Given the description of an element on the screen output the (x, y) to click on. 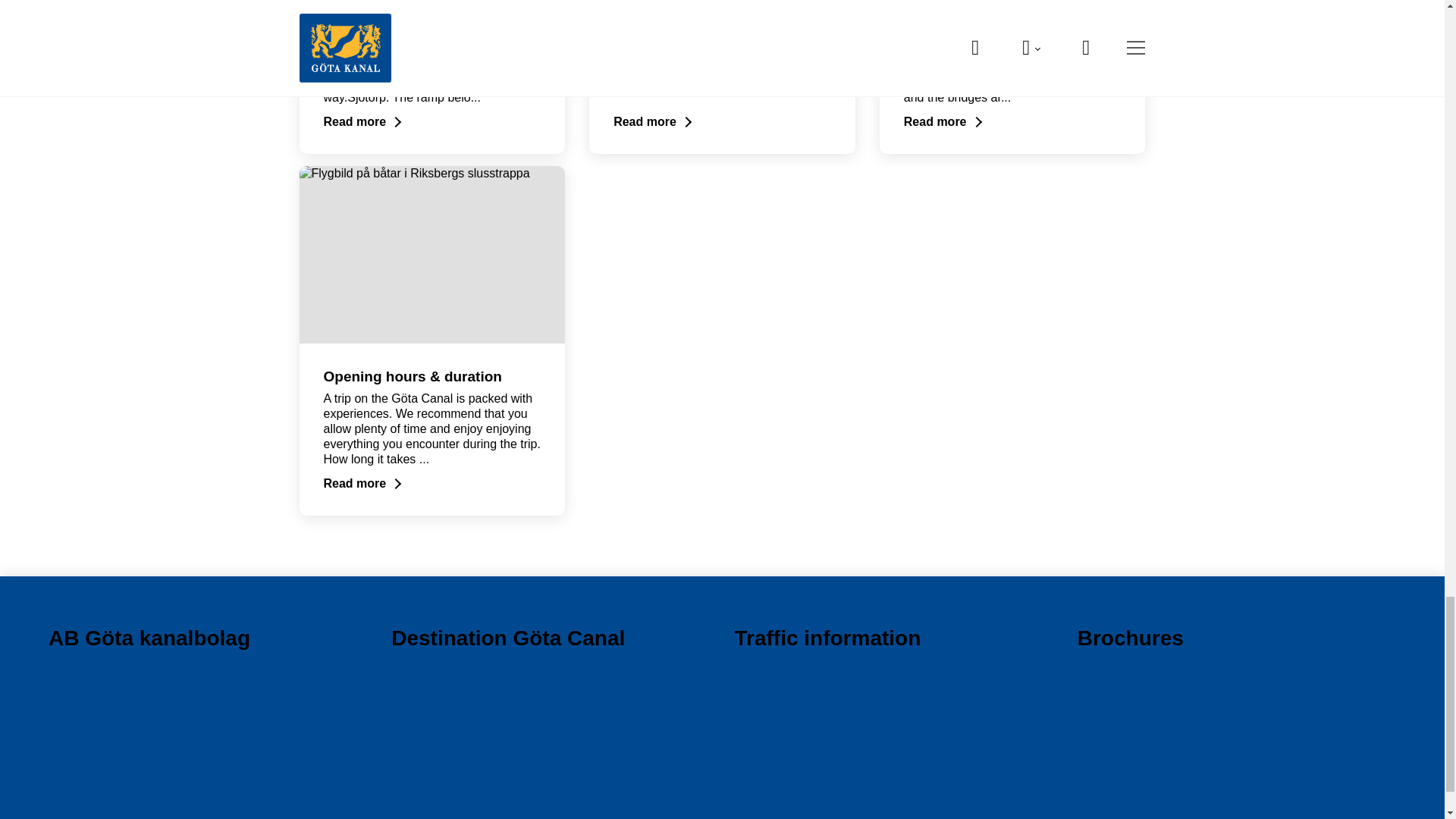
Itinerary express 3 days (798, 707)
General terms pleasure boat (817, 664)
Traffic regulations (781, 748)
Itinerary convoy 5 days (796, 685)
